Given the description of an element on the screen output the (x, y) to click on. 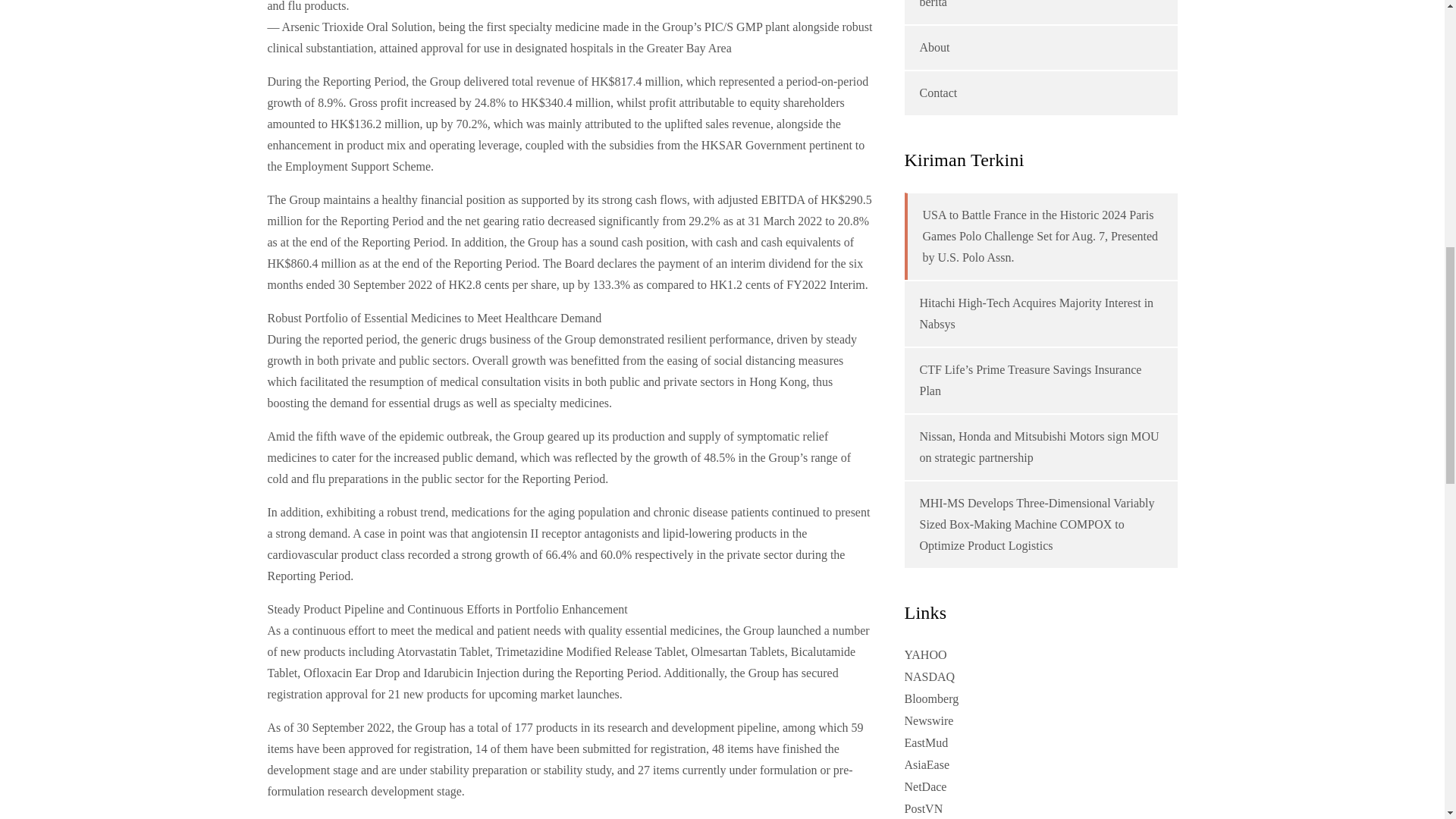
berita (932, 4)
AsiaEase (926, 764)
NASDAQ (929, 676)
EastMud (925, 742)
About (933, 47)
NetDace (925, 786)
Newswire (928, 720)
Hitachi High-Tech Acquires Majority Interest in Nabsys (1035, 313)
Bloomberg (931, 698)
YAHOO (925, 654)
Contact (937, 92)
PostVN (923, 808)
